Given the description of an element on the screen output the (x, y) to click on. 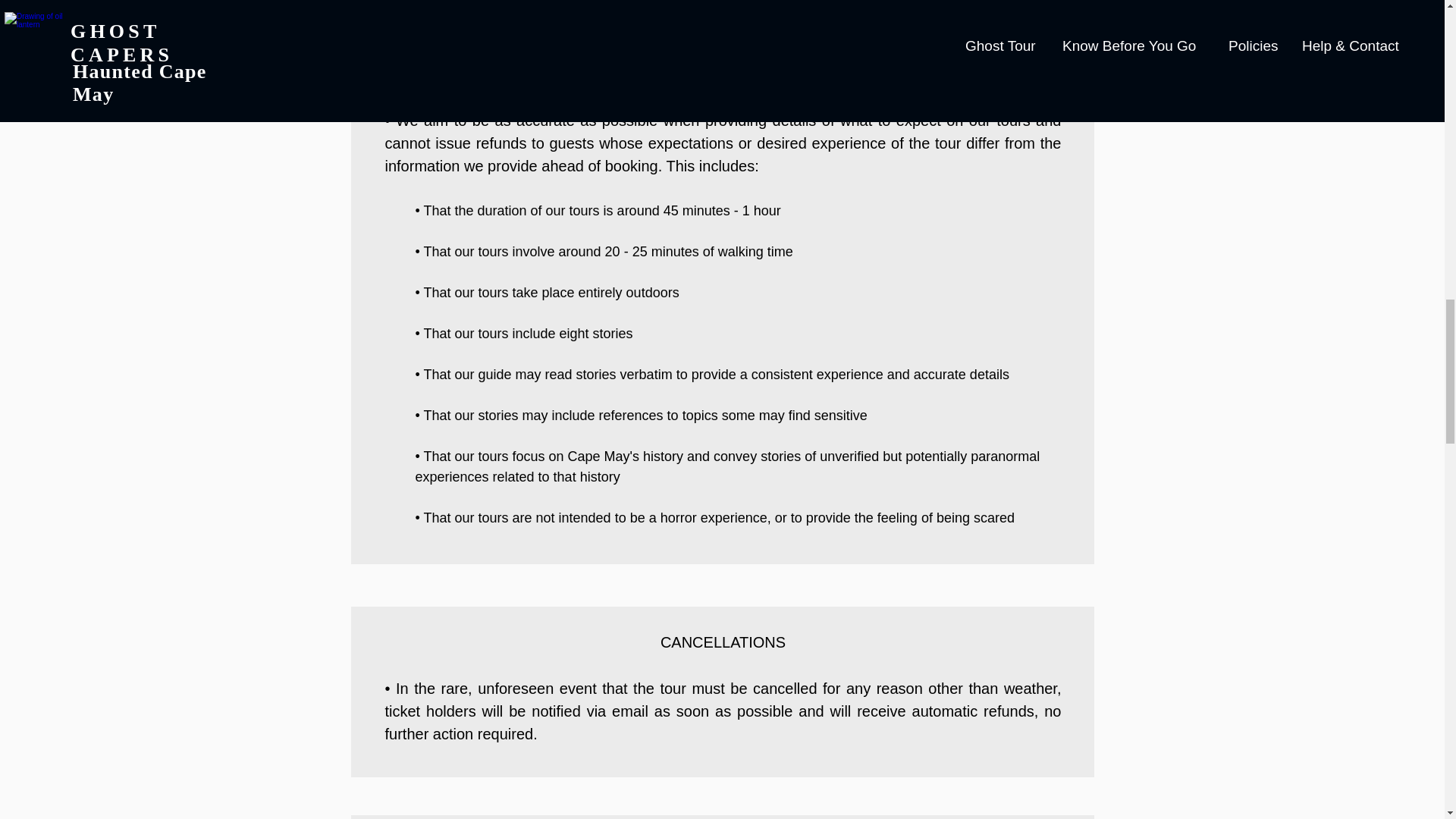
Eventbrite customer service (723, 18)
